Given the description of an element on the screen output the (x, y) to click on. 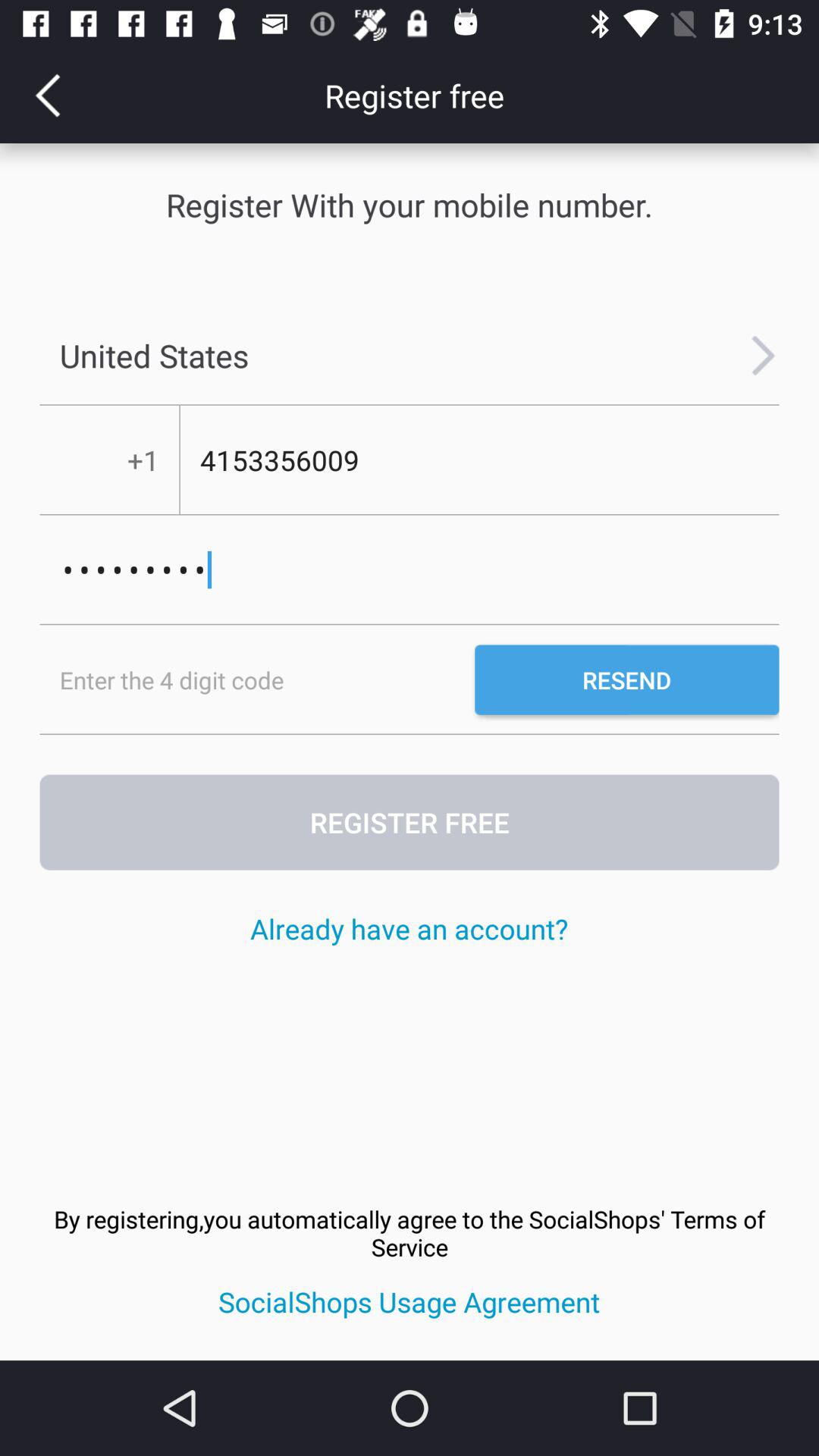
click the icon above register with your (47, 95)
